Given the description of an element on the screen output the (x, y) to click on. 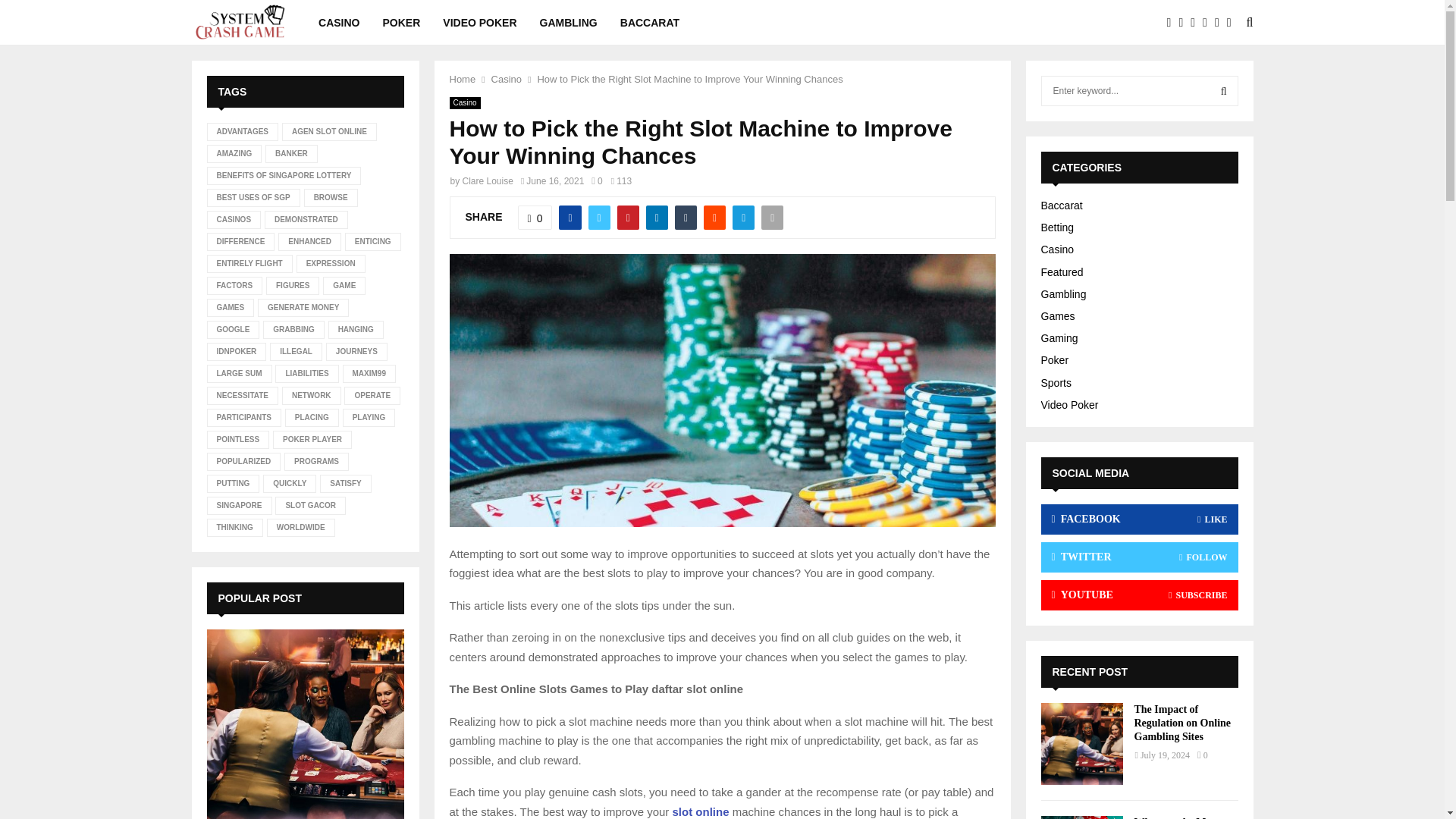
CASINO (338, 22)
0 (596, 181)
Like (535, 217)
Home (462, 79)
0 (535, 217)
Clare Louise (488, 181)
Casino (506, 79)
VIDEO POKER (479, 22)
GAMBLING (568, 22)
slot online (700, 811)
Casino (464, 102)
BACCARAT (649, 22)
